Given the description of an element on the screen output the (x, y) to click on. 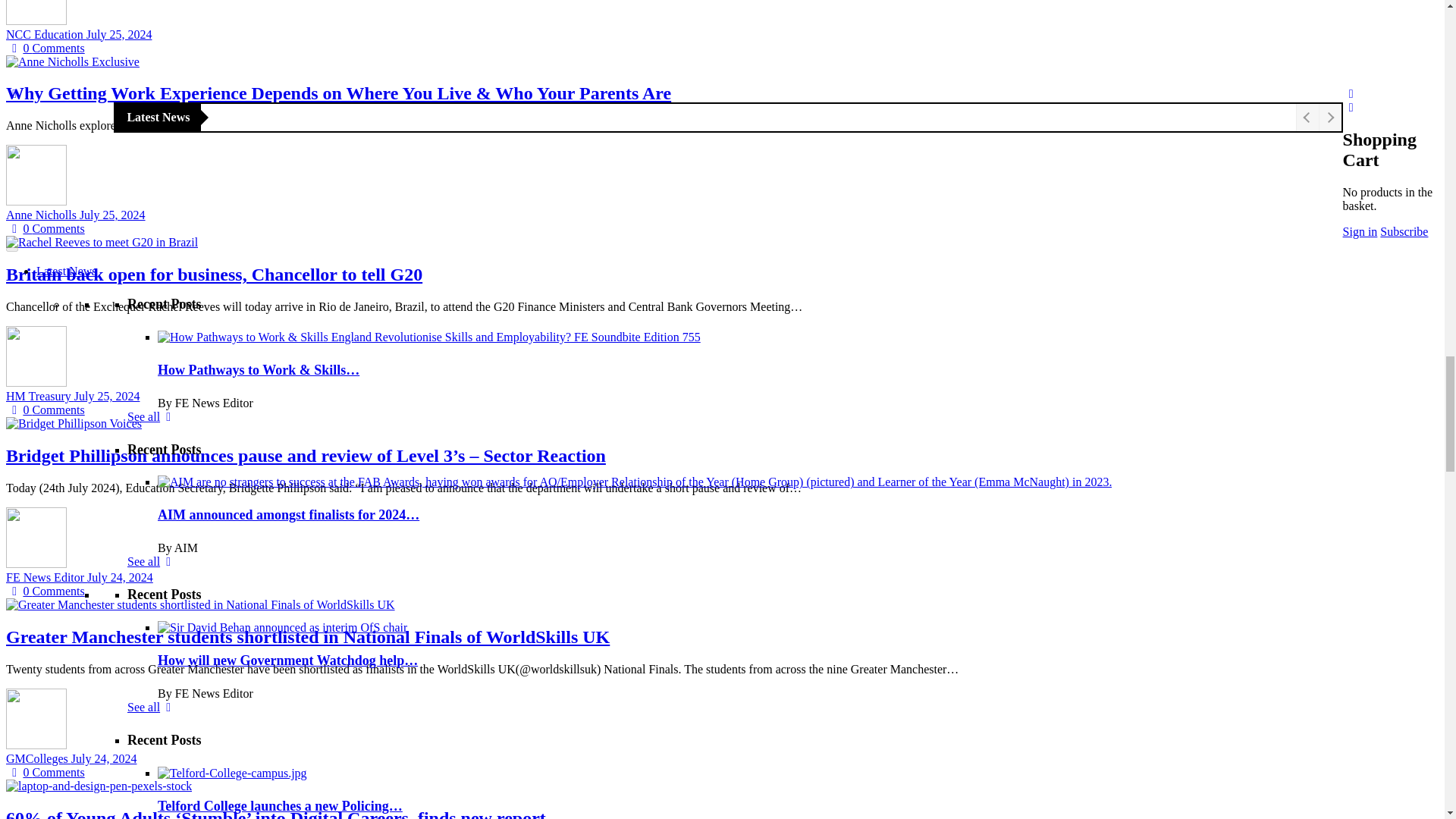
Media pack (424, 490)
Academy (424, 40)
